Given the description of an element on the screen output the (x, y) to click on. 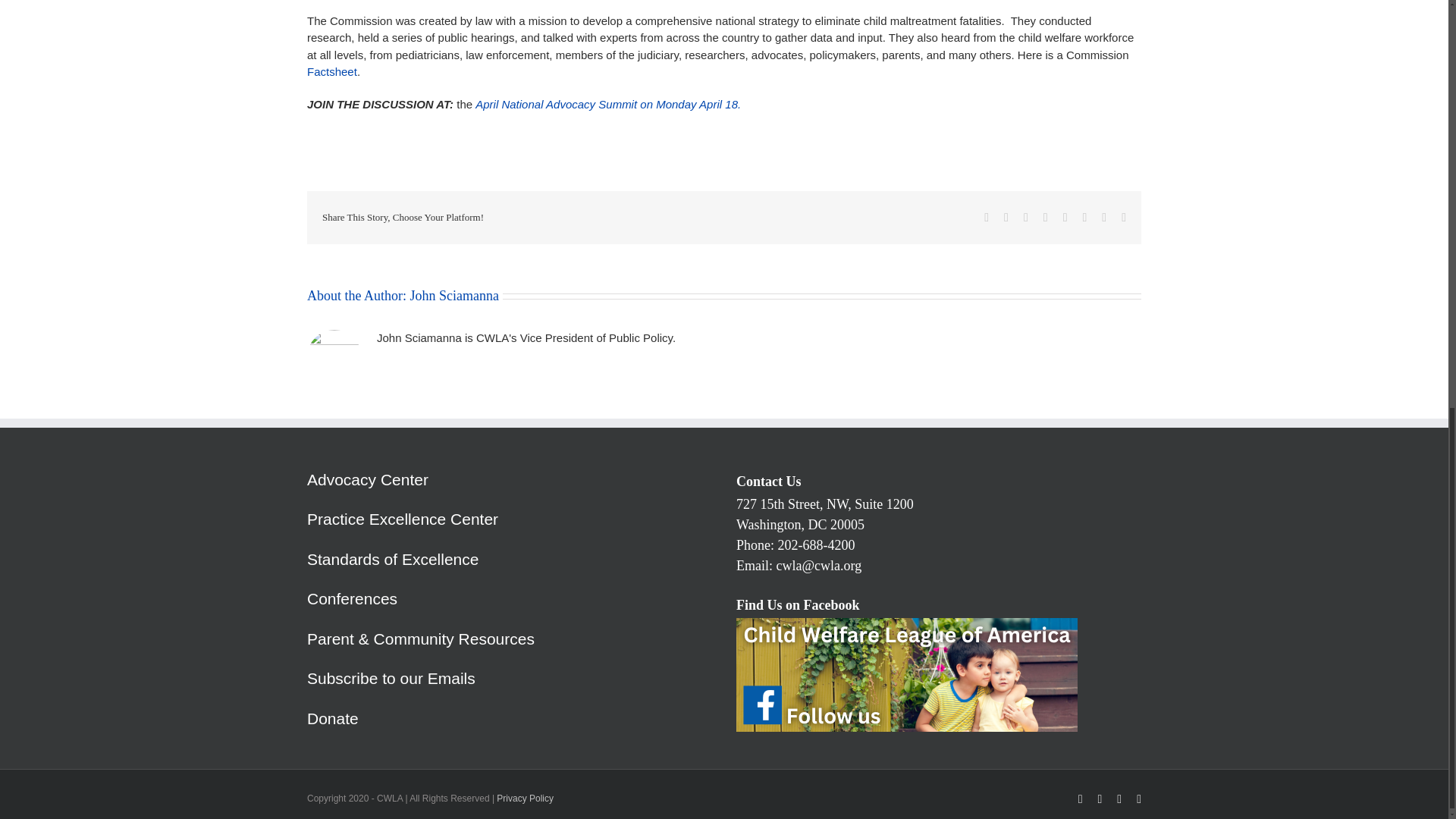
Posts by John Sciamanna (453, 295)
